Given the description of an element on the screen output the (x, y) to click on. 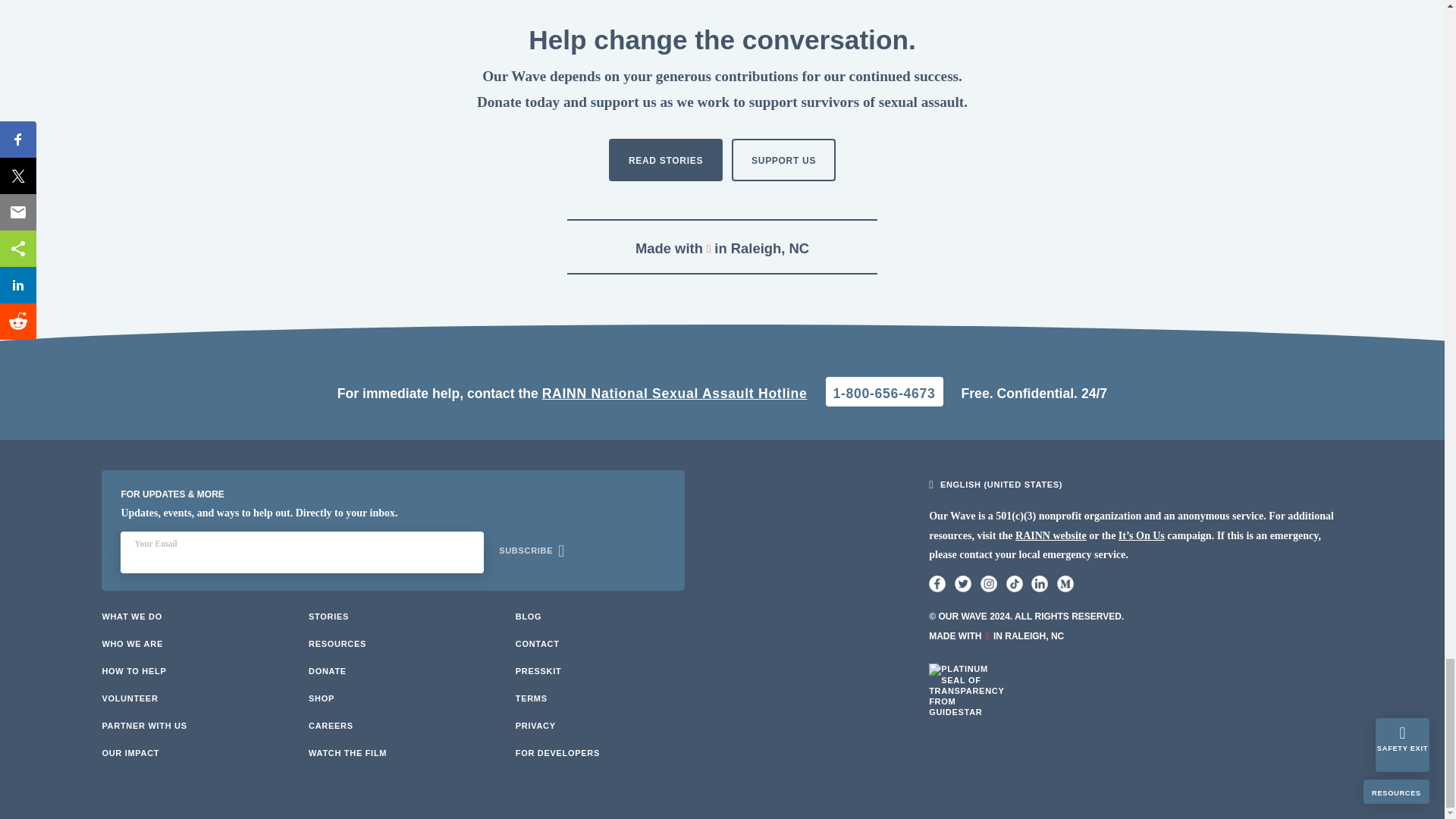
Our Wave LinkedIn (1039, 583)
Our Wave Medium (1065, 583)
Our Wave Facebook (936, 583)
Platinum Seal of Transparency from GuideStar (966, 701)
Our Wave Twitter (963, 583)
Our Wave TikTok (1014, 583)
Our Wave Instagram (988, 583)
